Given the description of an element on the screen output the (x, y) to click on. 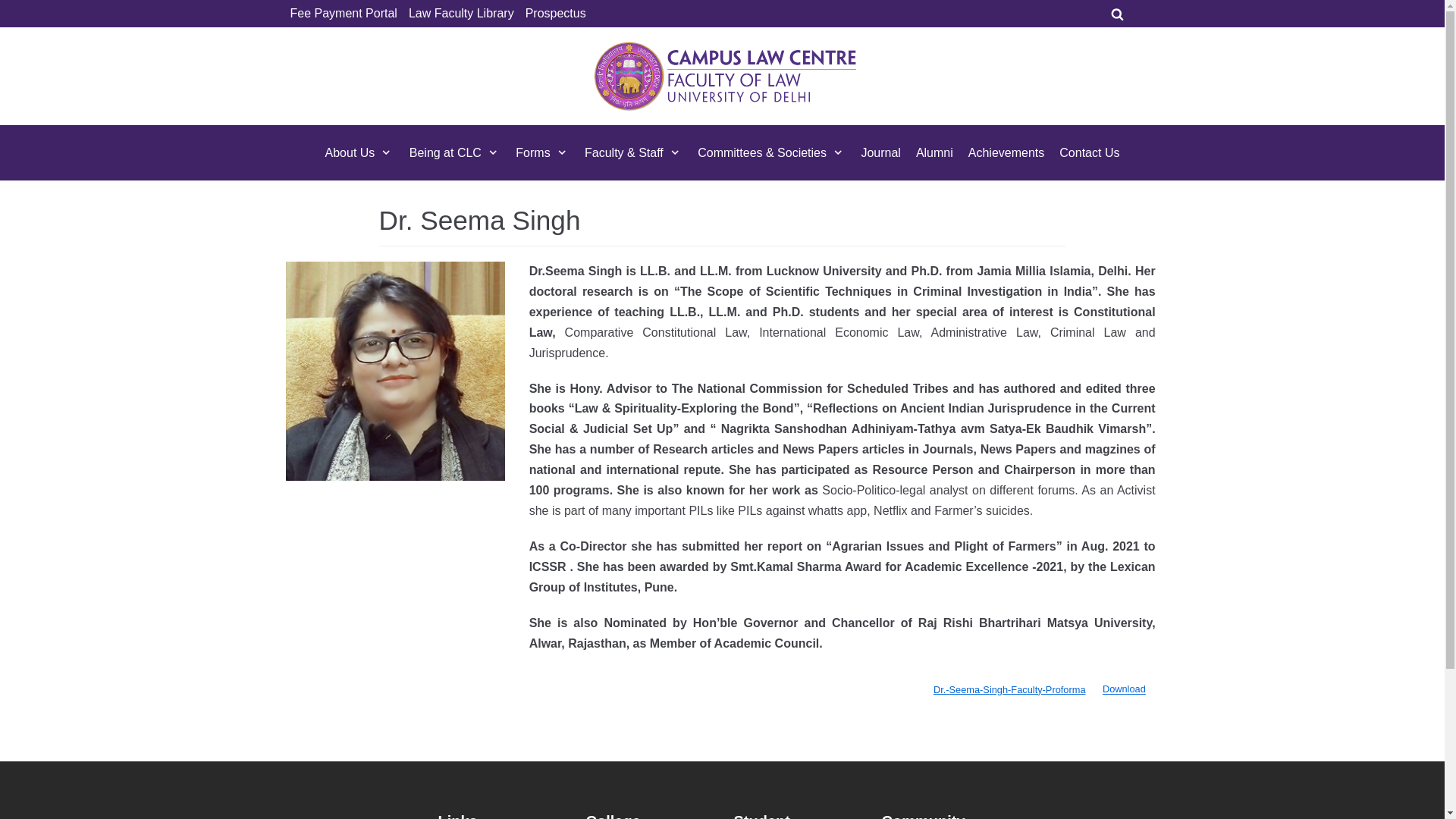
Law Faculty Library (461, 13)
Skip to content (15, 7)
Prospectus (555, 13)
Fee Payment Portal (342, 13)
Being at CLC (454, 152)
Forms (542, 152)
Campus Law Centre (724, 75)
Search (1235, 409)
About Us (359, 152)
